Given the description of an element on the screen output the (x, y) to click on. 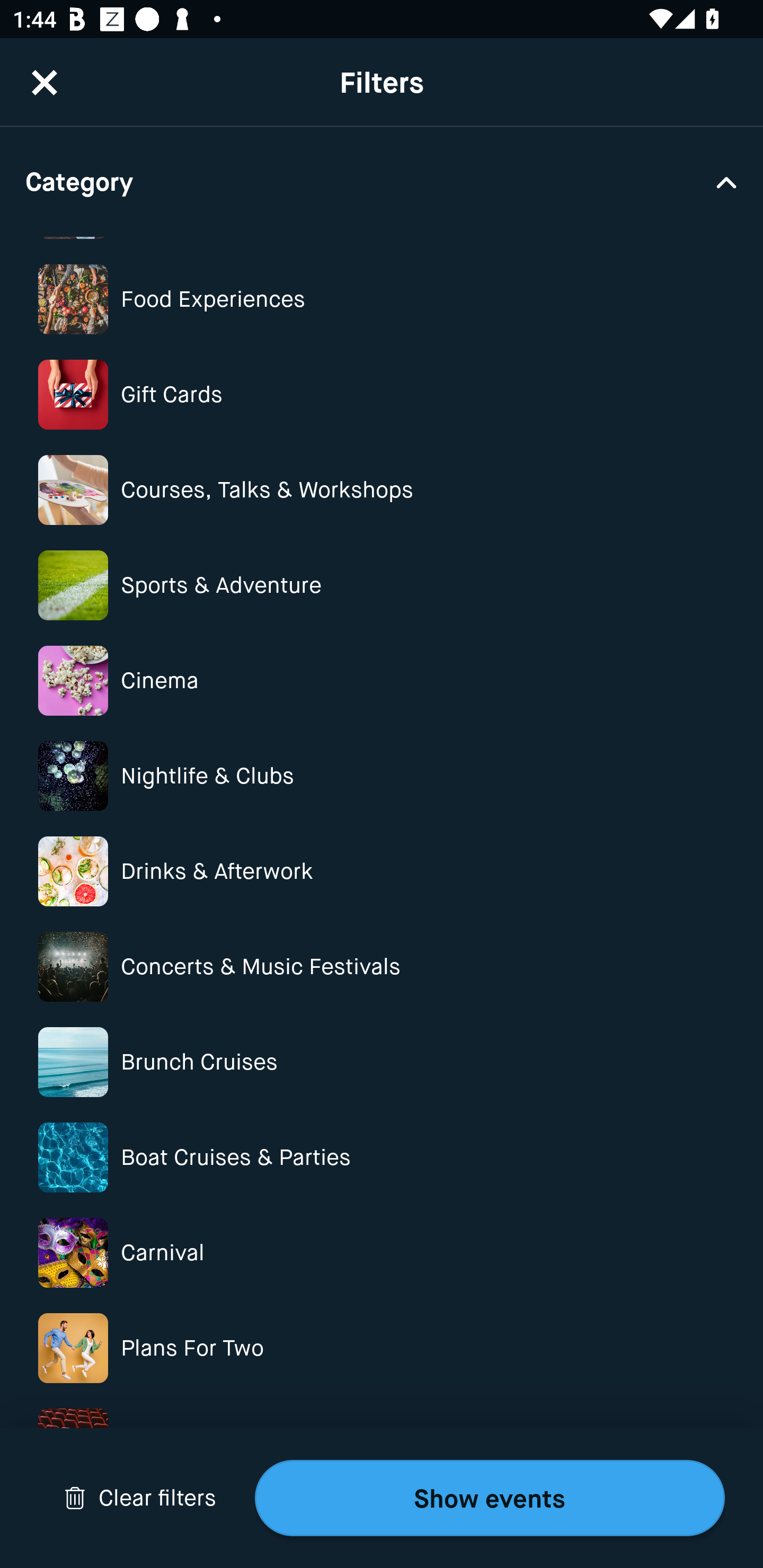
Category Drop Down Arrow (381, 181)
Category Image Food Experiences (381, 299)
Category Image Gift Cards (381, 393)
Category Image Courses, Talks & Workshops (381, 489)
Category Image Sports & Adventure (381, 585)
Category Image Cinema (381, 680)
Category Image Nightlife & Clubs (381, 775)
Category Image Drinks & Afterwork (381, 870)
Category Image Concerts & Music Festivals (381, 966)
Category Image Brunch Cruises (381, 1061)
Category Image Boat Cruises & Parties (381, 1156)
Category Image Carnival (381, 1252)
Category Image Plans For Two (381, 1347)
Drop Down Arrow Clear filters (139, 1497)
Show events (489, 1497)
